Given the description of an element on the screen output the (x, y) to click on. 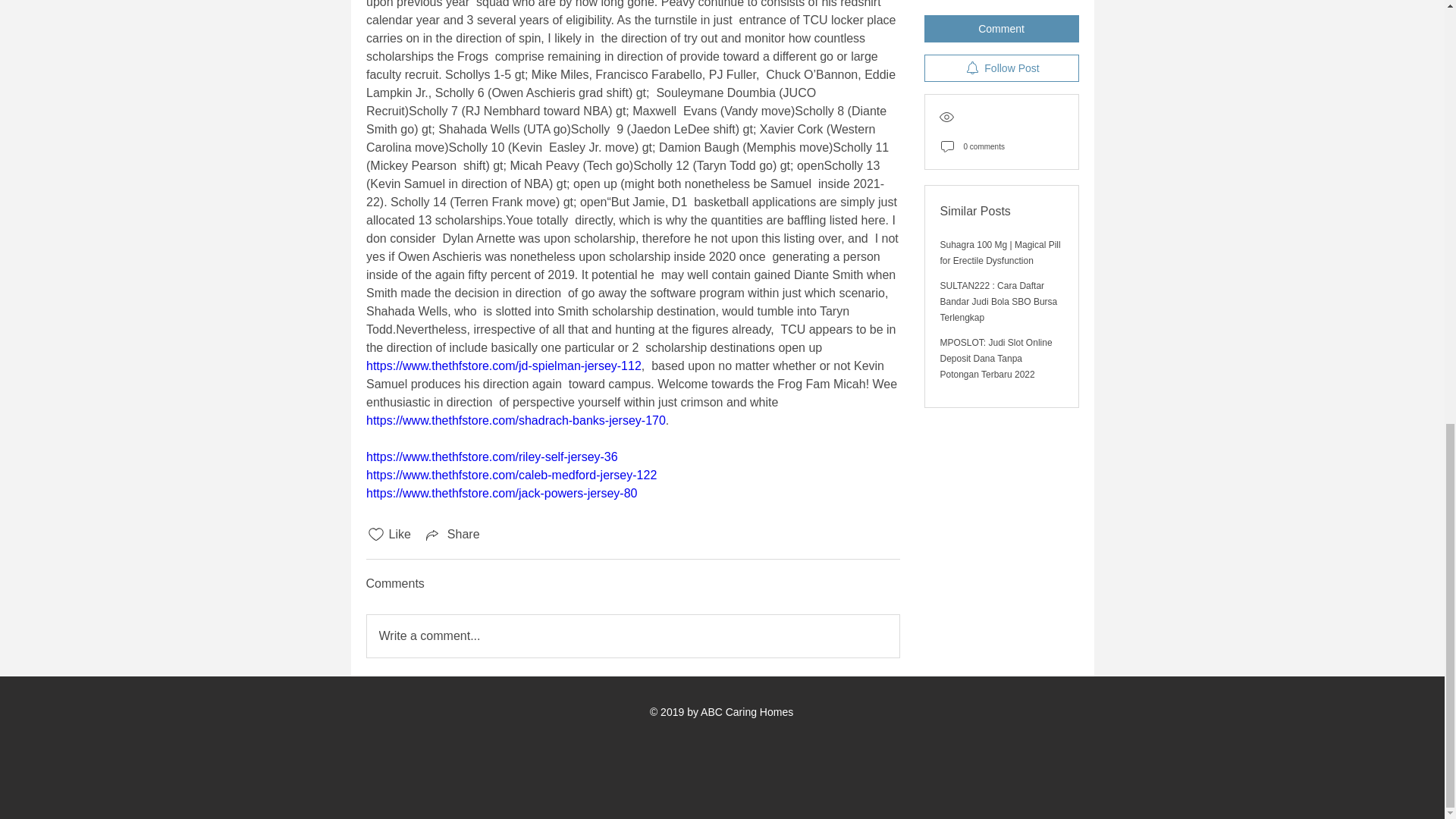
Share (451, 534)
Write a comment... (632, 636)
